Given the description of an element on the screen output the (x, y) to click on. 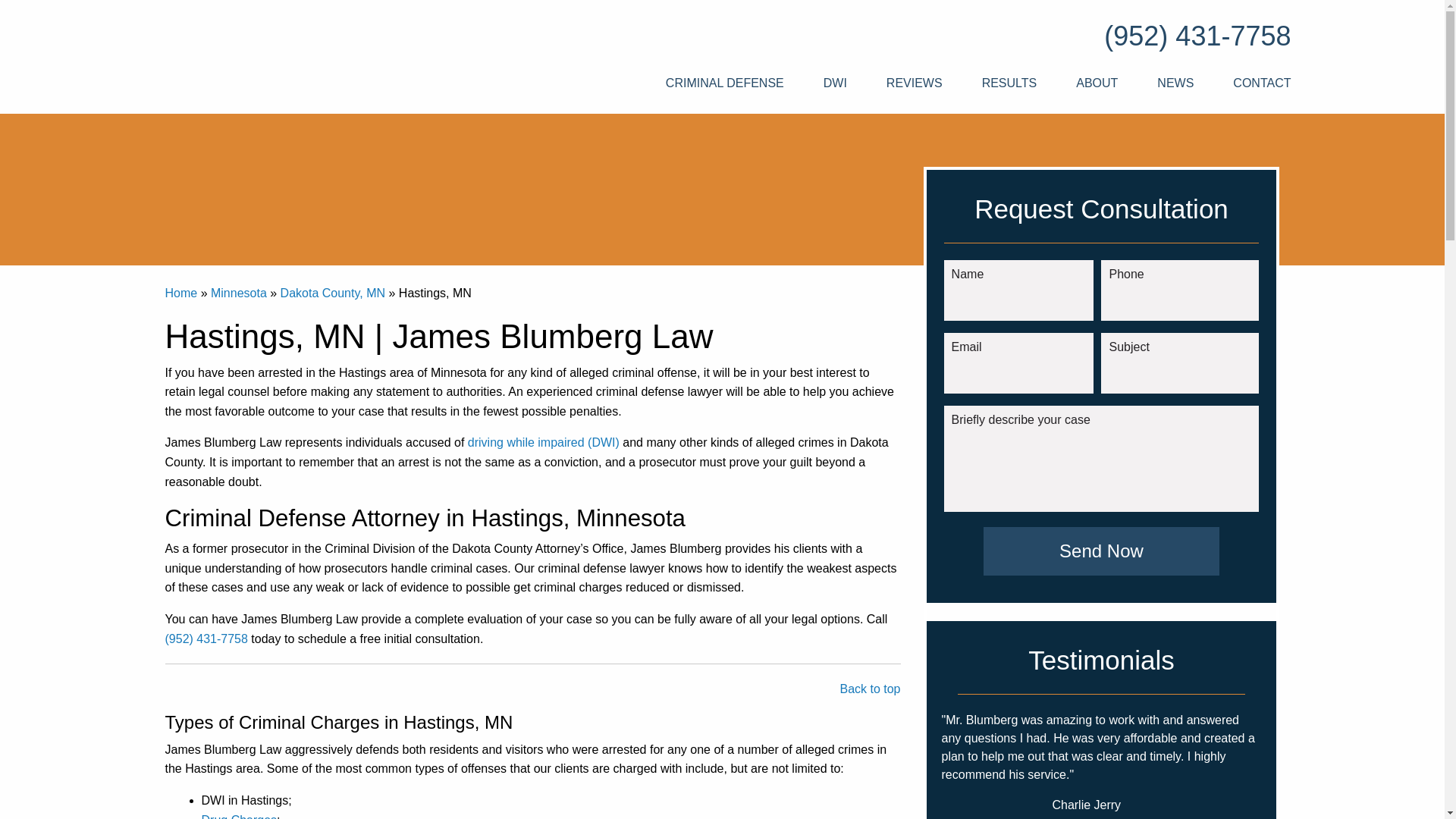
CRIMINAL DEFENSE (724, 82)
DWI (834, 82)
